Given the description of an element on the screen output the (x, y) to click on. 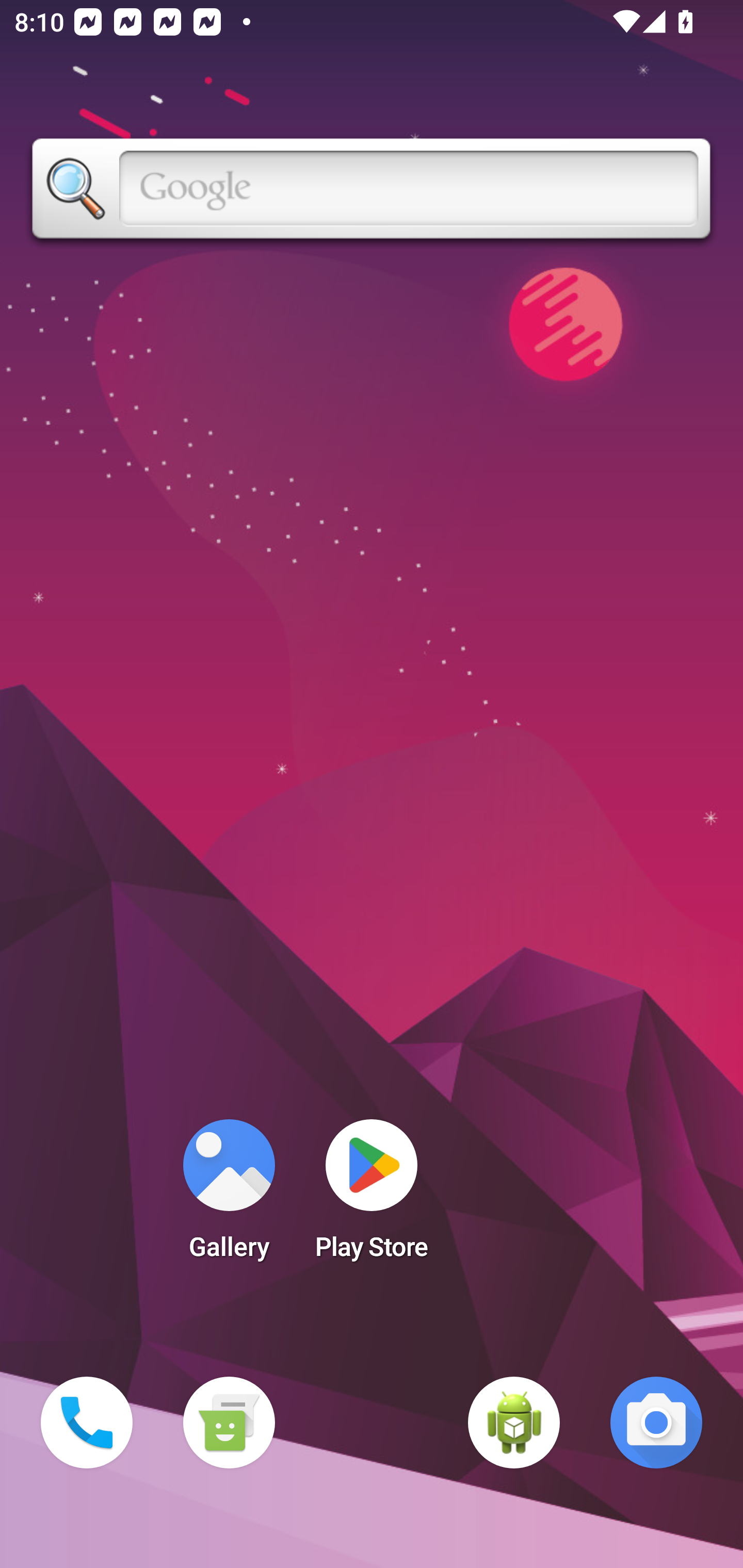
Gallery (228, 1195)
Play Store (371, 1195)
Phone (86, 1422)
Messaging (228, 1422)
WebView Browser Tester (513, 1422)
Camera (656, 1422)
